Given the description of an element on the screen output the (x, y) to click on. 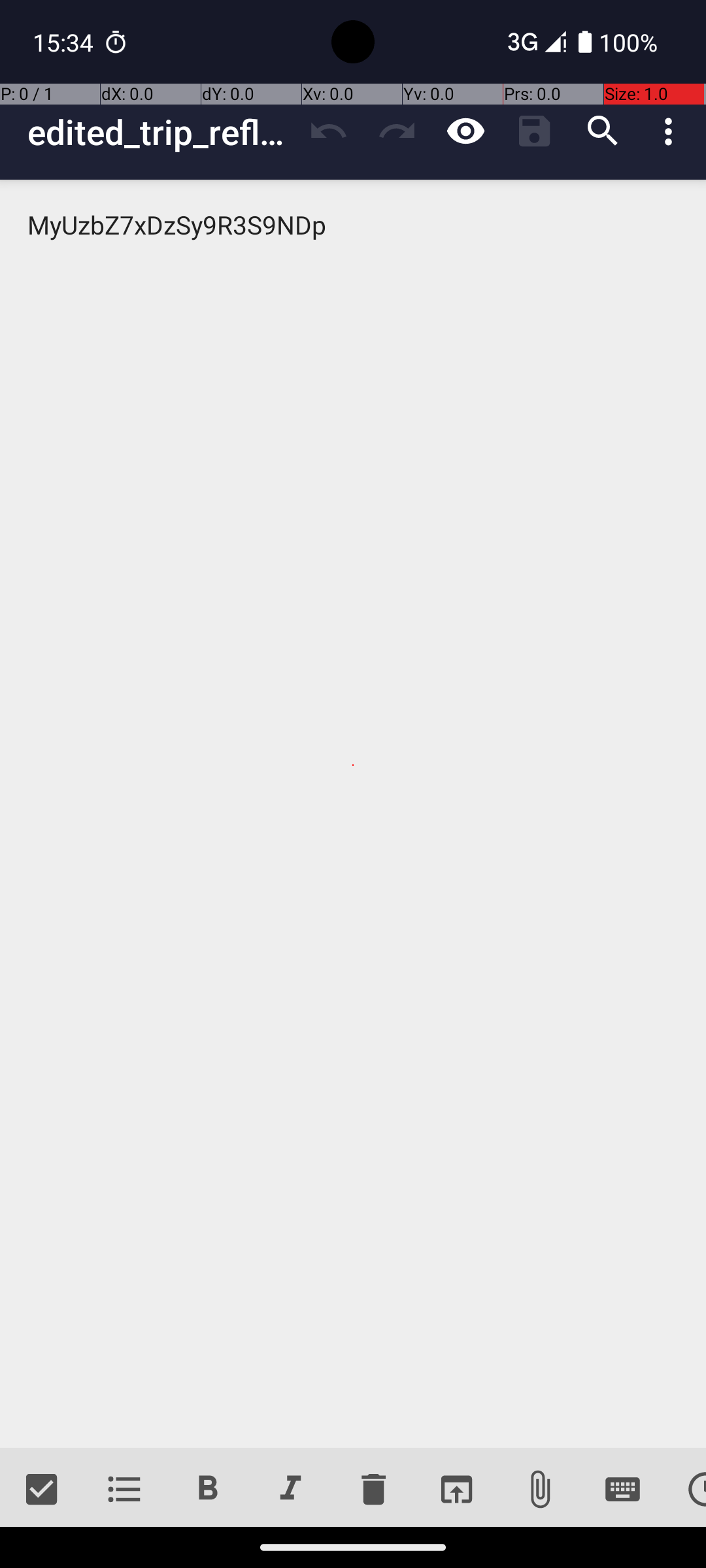
edited_trip_reflections_recent Element type: android.widget.TextView (160, 131)
MyUzbZ7xDzSy9R3S9NDp
 Element type: android.widget.EditText (353, 813)
